Given the description of an element on the screen output the (x, y) to click on. 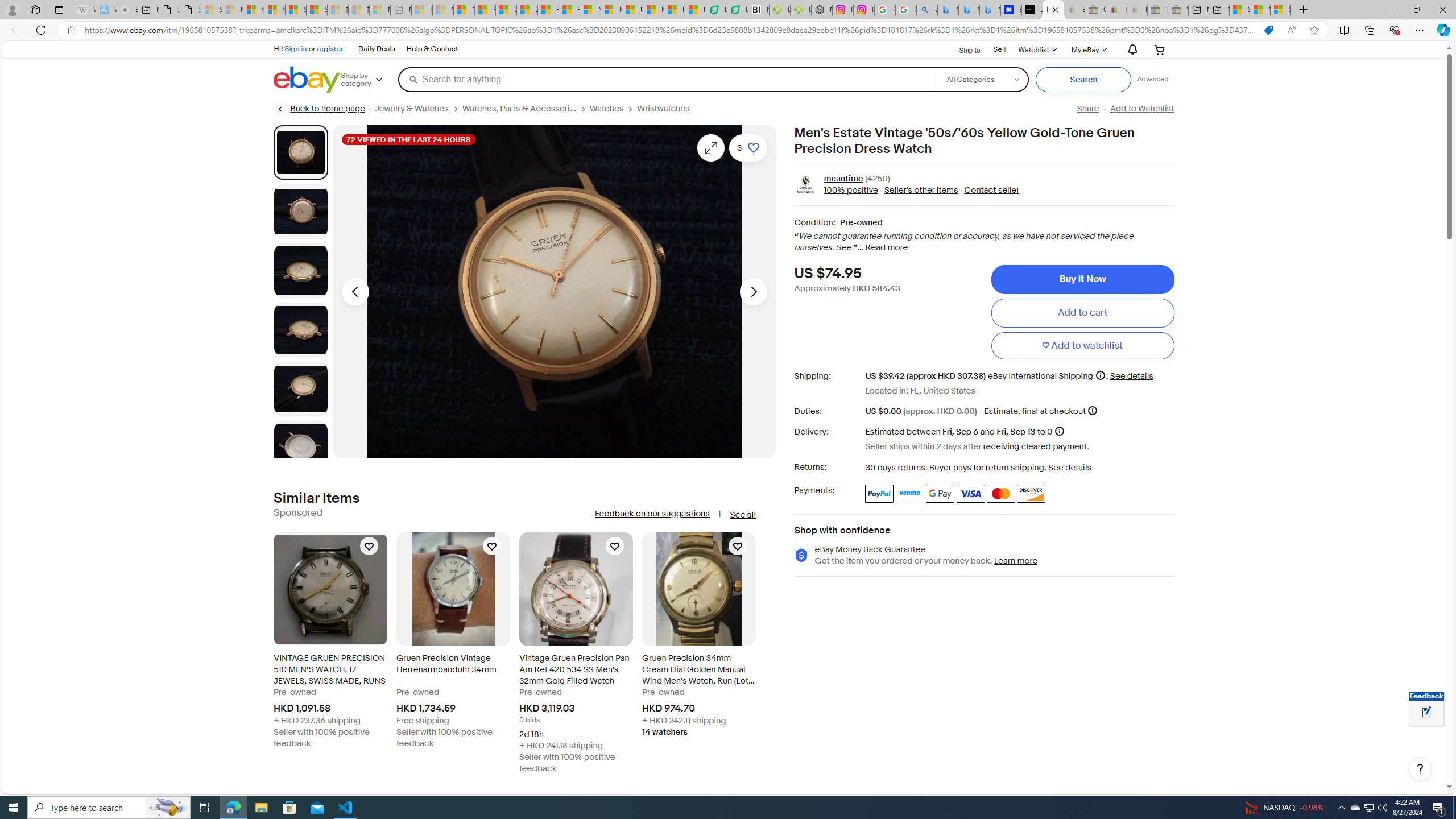
Next image - Item images thumbnails (753, 291)
AutomationID: gh-eb-Alerts (1131, 49)
Advanced Search (1152, 78)
Picture 2 of 8 (300, 211)
Microsoft Bing Travel - Shangri-La Hotel Bangkok (990, 9)
Foo BAR | Trusted Community Engagement and Contributions (569, 9)
Picture 4 of 8 (300, 329)
meantime (843, 179)
Picture 3 of 8 (300, 270)
